Given the description of an element on the screen output the (x, y) to click on. 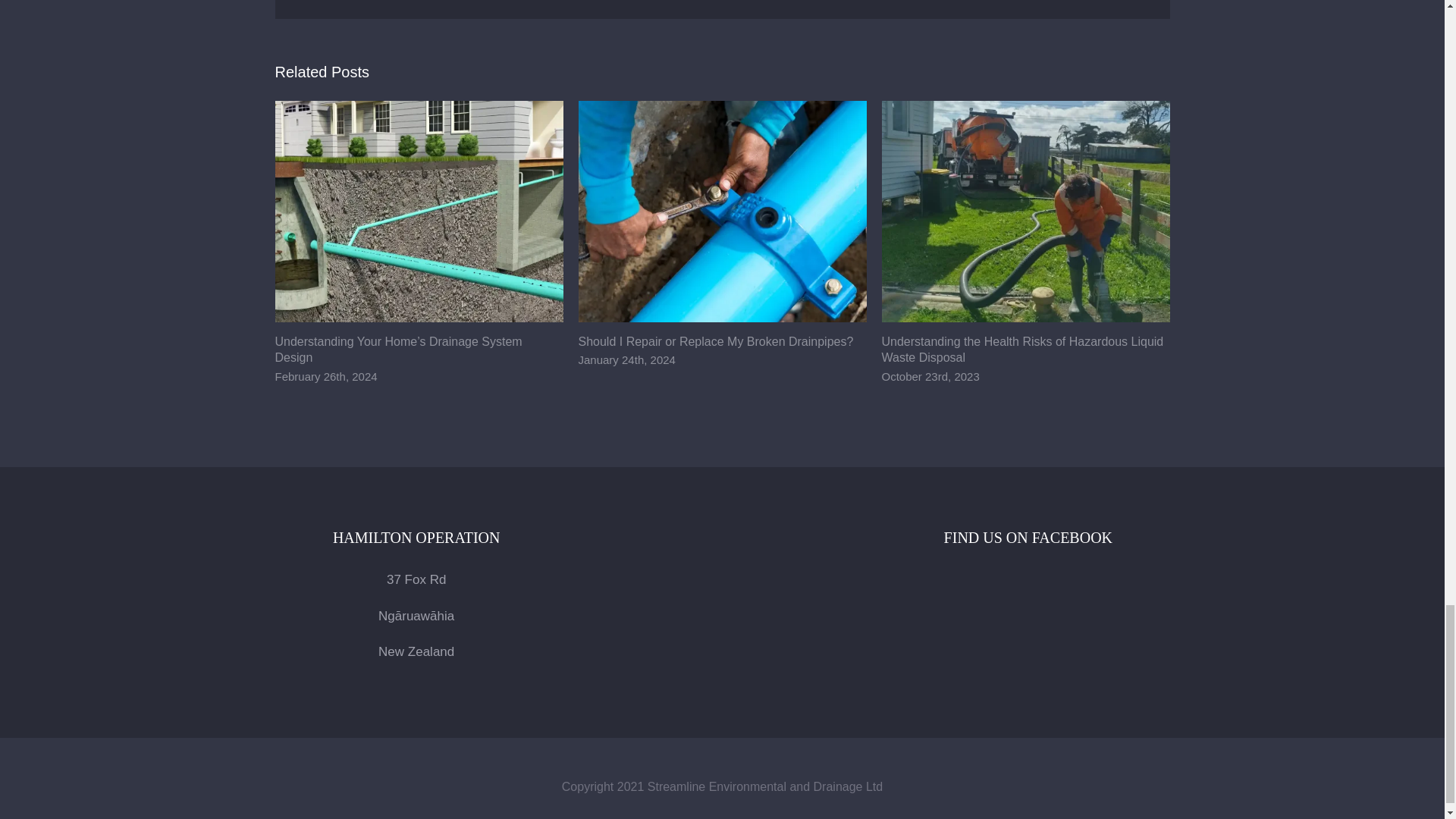
Should I Repair or Replace My Broken Drainpipes? (715, 341)
